Given the description of an element on the screen output the (x, y) to click on. 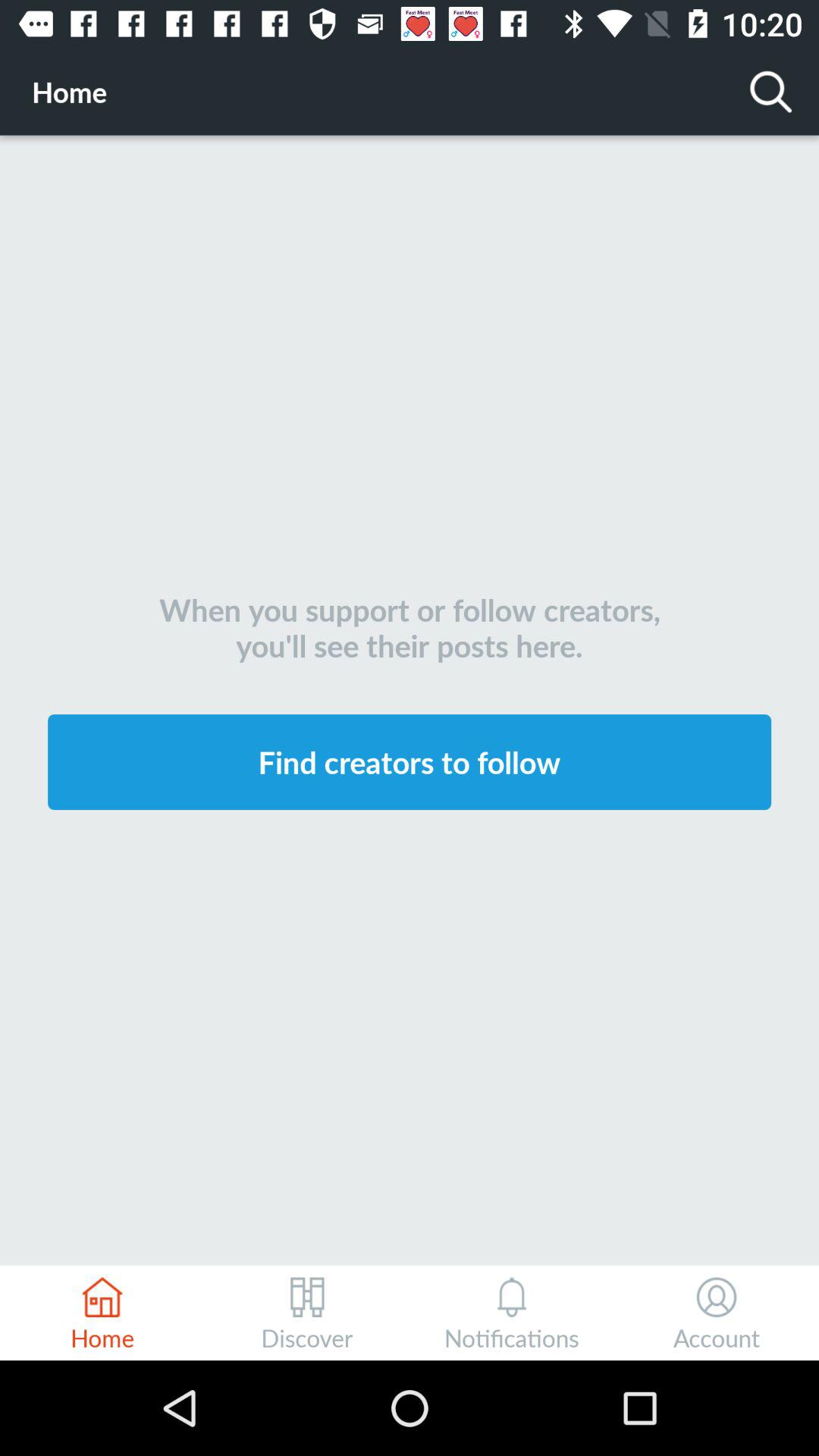
tap icon below when you support icon (409, 761)
